Given the description of an element on the screen output the (x, y) to click on. 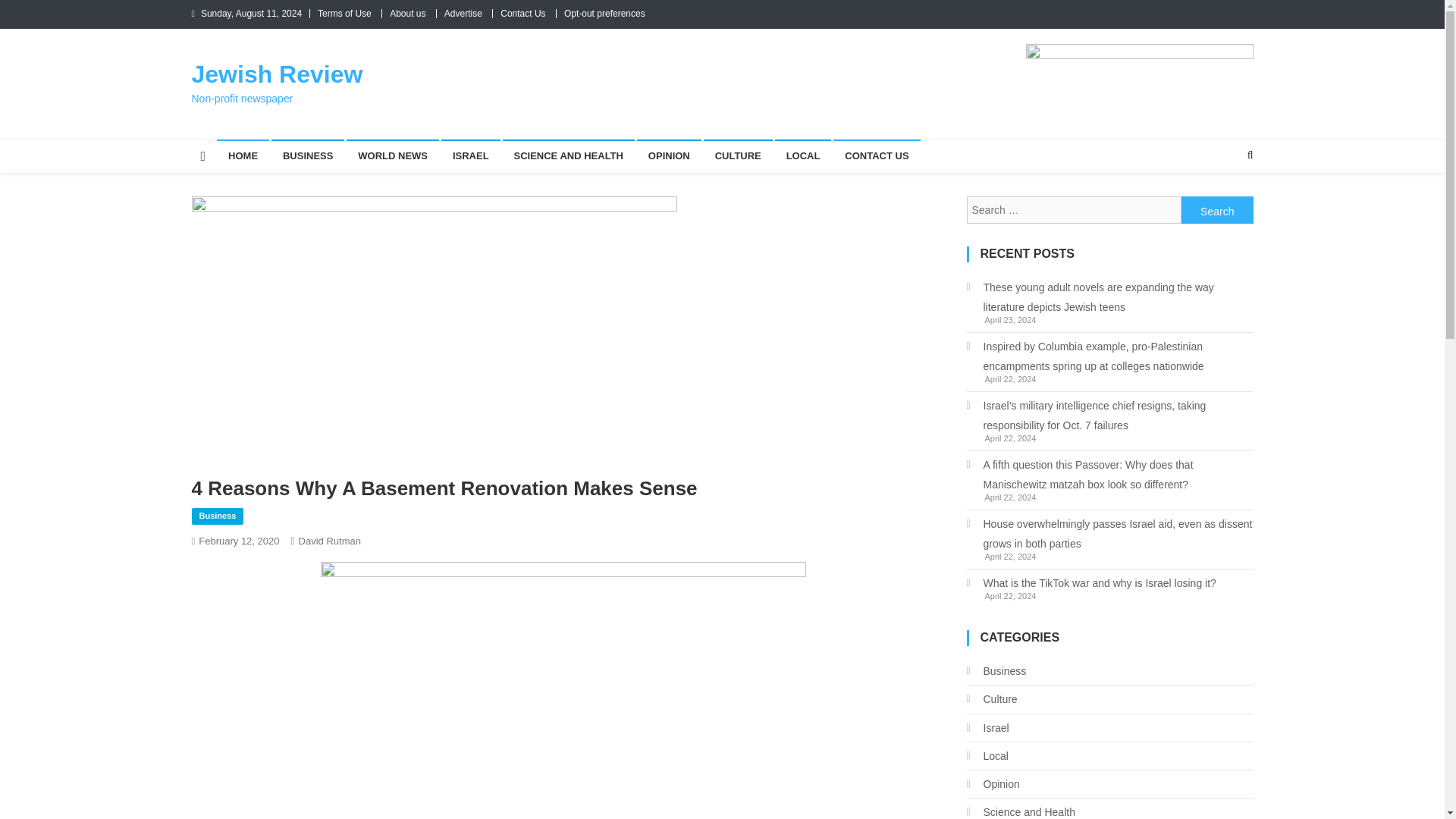
Search (1216, 209)
David Rutman (329, 541)
Search (1221, 205)
About us (407, 13)
Jewish Review (276, 73)
LOCAL (802, 155)
Search (1216, 209)
SCIENCE AND HEALTH (567, 155)
Advertise (462, 13)
Opt-out preferences (604, 13)
